Given the description of an element on the screen output the (x, y) to click on. 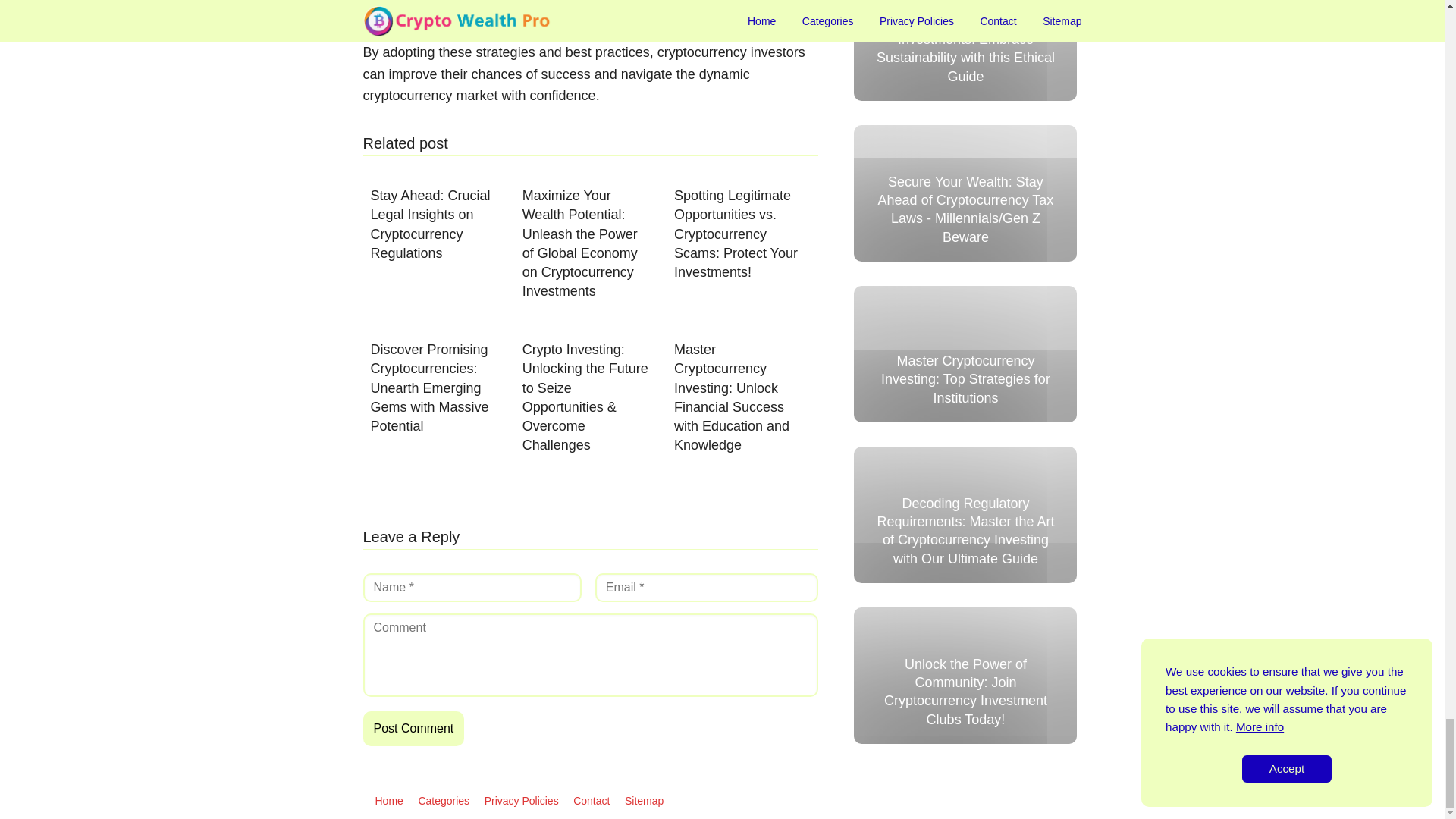
Post Comment (413, 728)
